Given the description of an element on the screen output the (x, y) to click on. 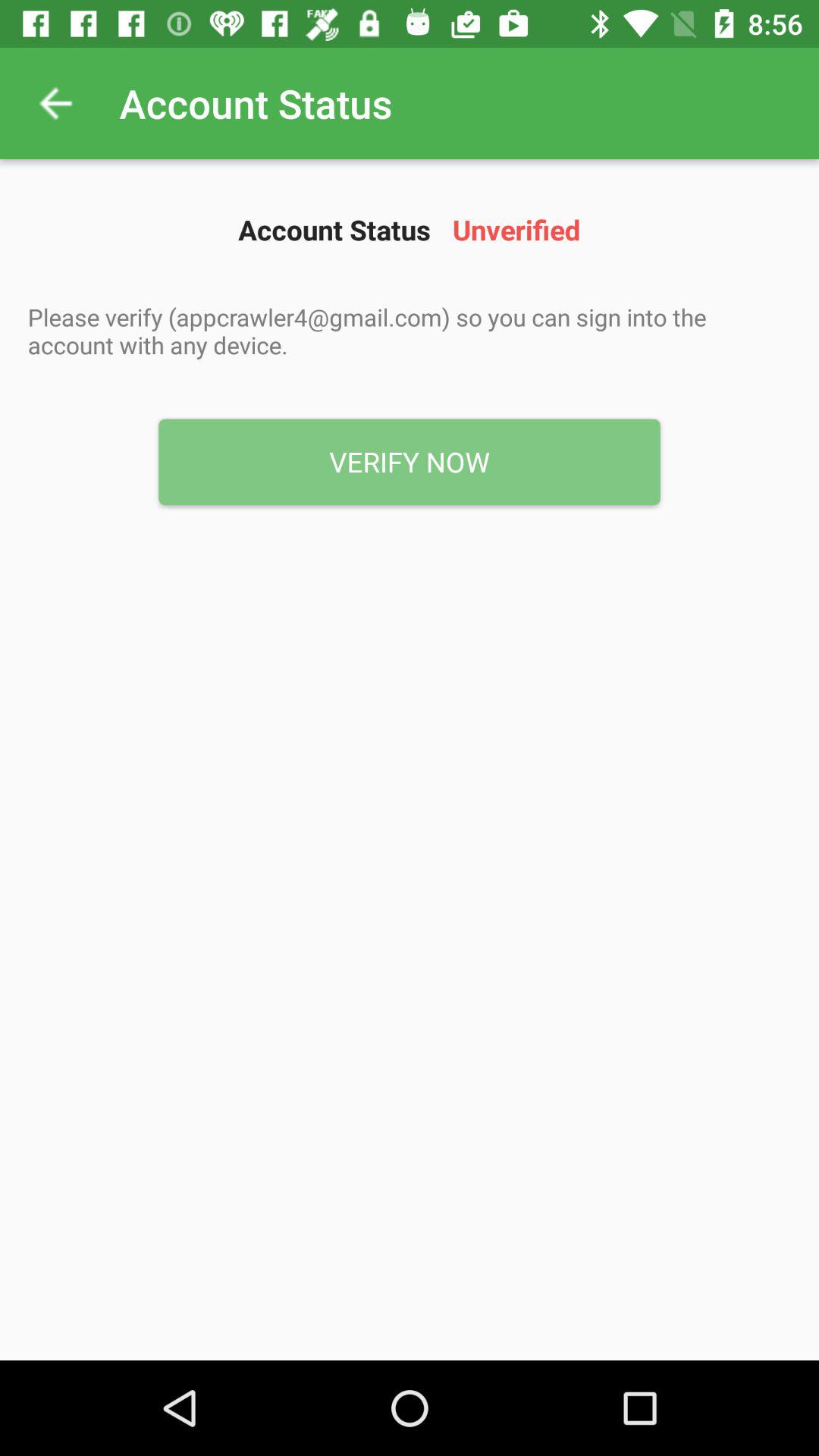
swipe to verify now item (409, 462)
